Given the description of an element on the screen output the (x, y) to click on. 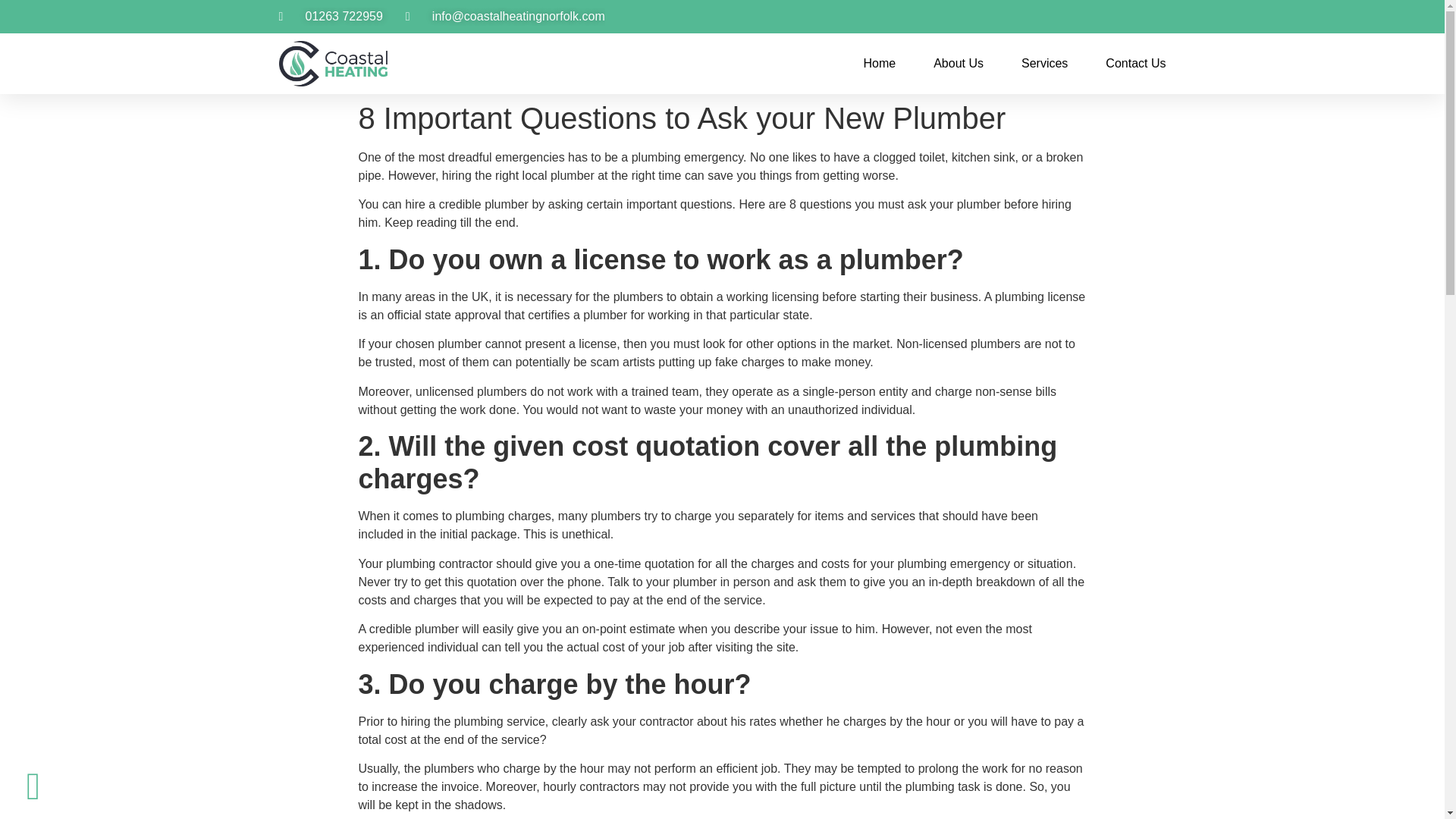
About Us (958, 63)
Contact Us (1135, 63)
Services (1044, 63)
Home (879, 63)
